Given the description of an element on the screen output the (x, y) to click on. 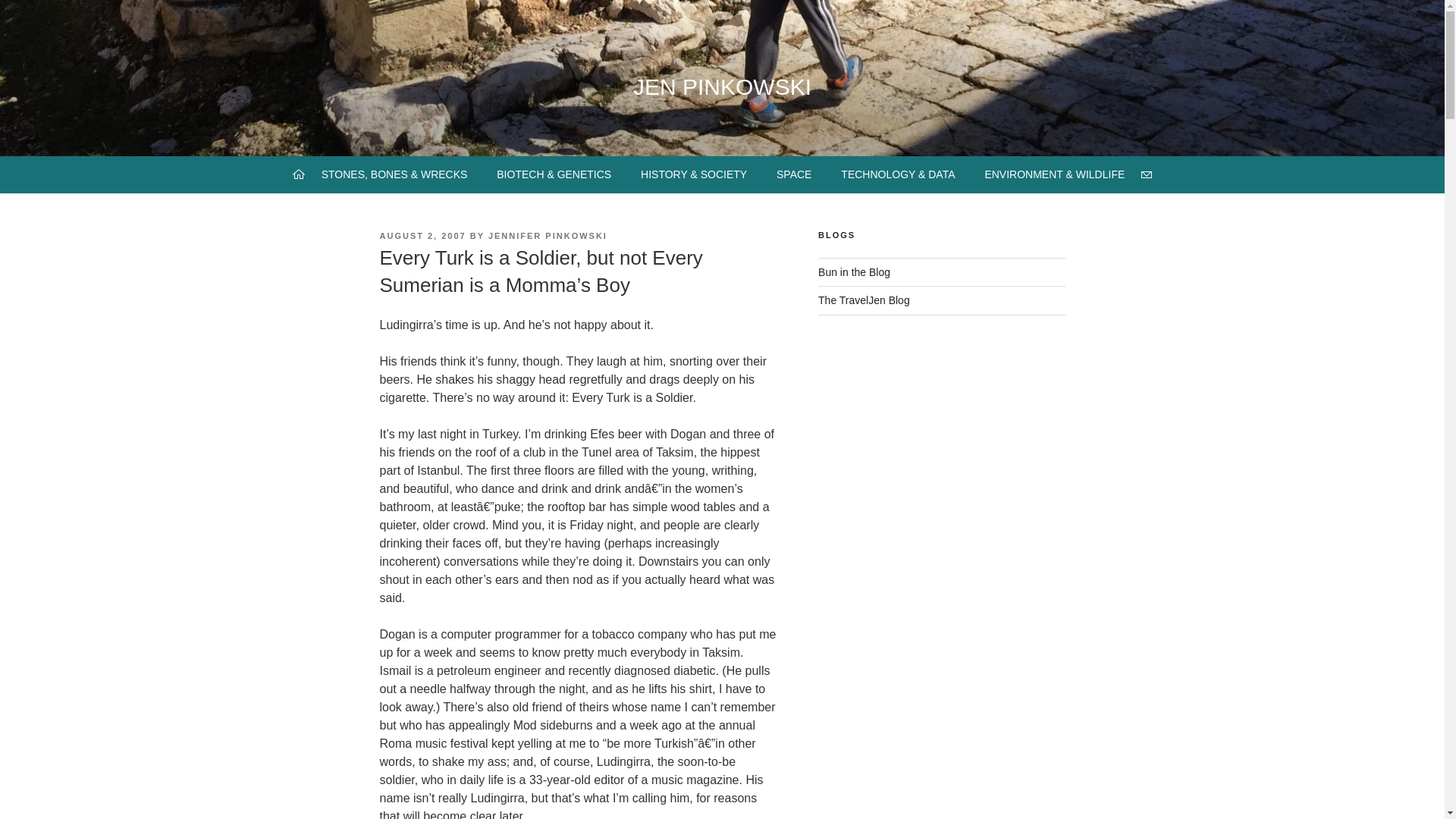
SPACE (793, 173)
JEN PINKOWSKI (721, 86)
CONTACT (1146, 174)
AUGUST 2, 2007 (421, 234)
JENNIFER PINKOWSKI (547, 234)
